Given the description of an element on the screen output the (x, y) to click on. 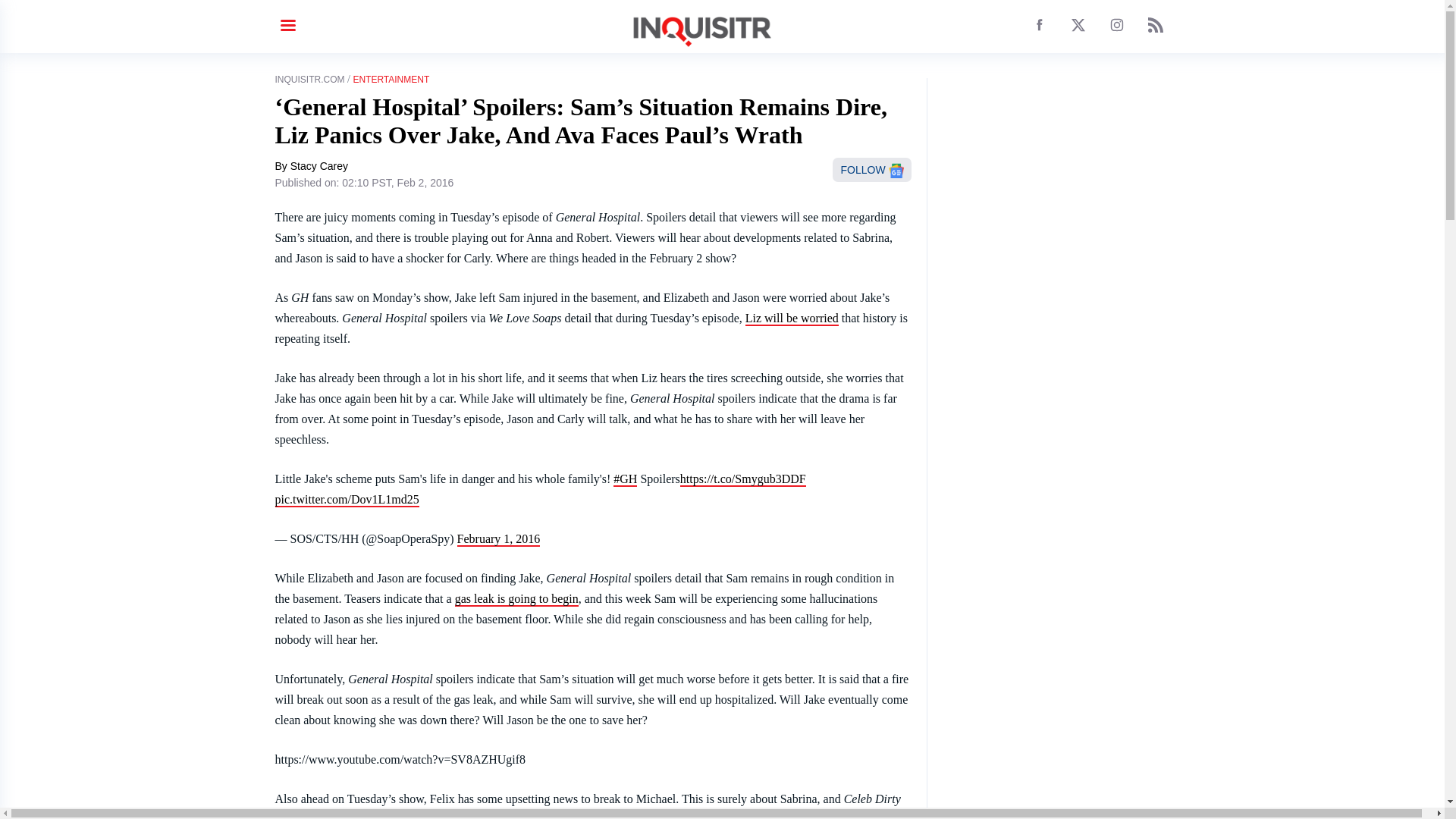
INQUISITR.COM (309, 79)
ENTERTAINMENT (390, 79)
